Given the description of an element on the screen output the (x, y) to click on. 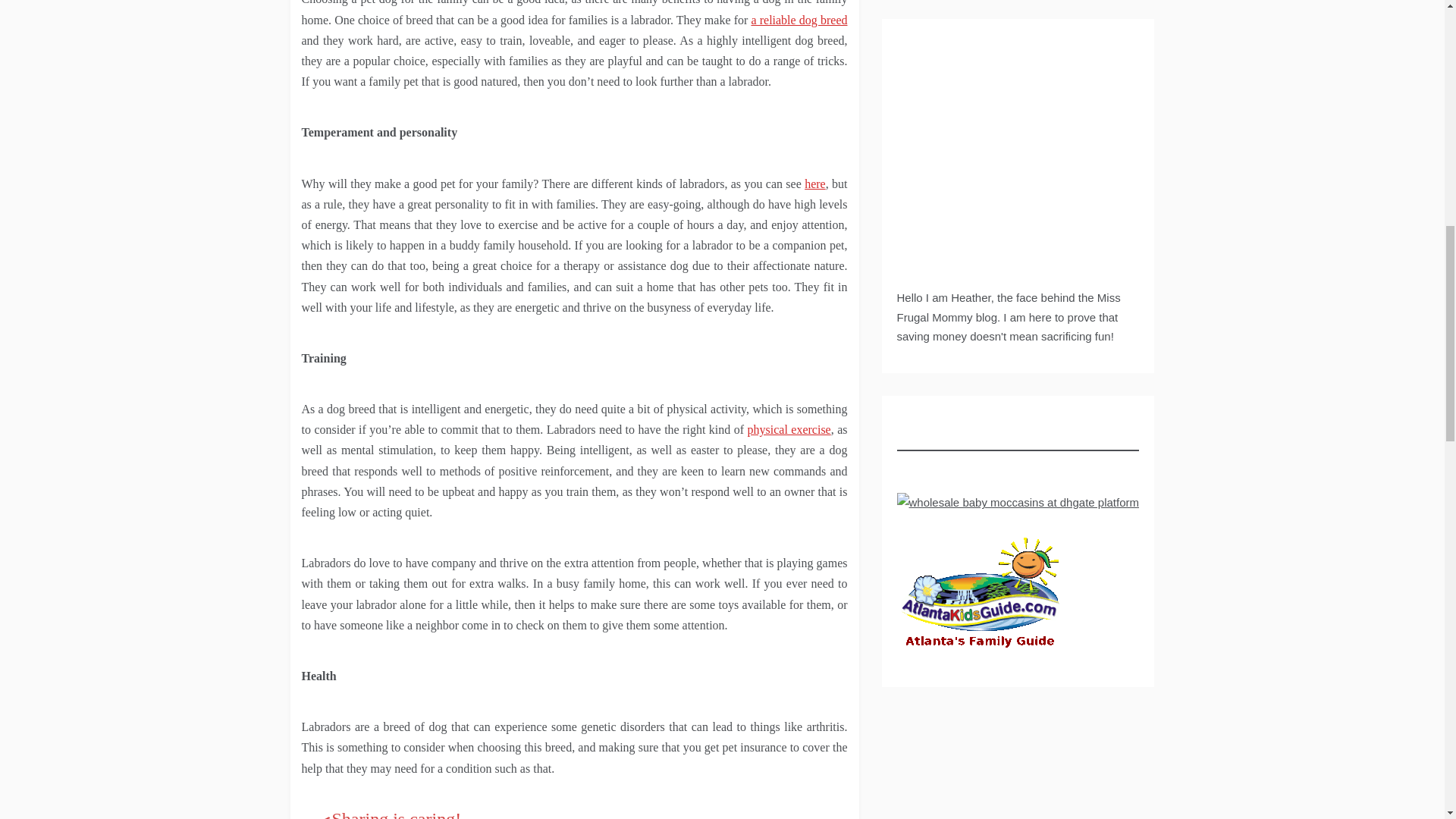
physical exercise (789, 429)
a reliable dog breed (799, 19)
here (815, 183)
